Given the description of an element on the screen output the (x, y) to click on. 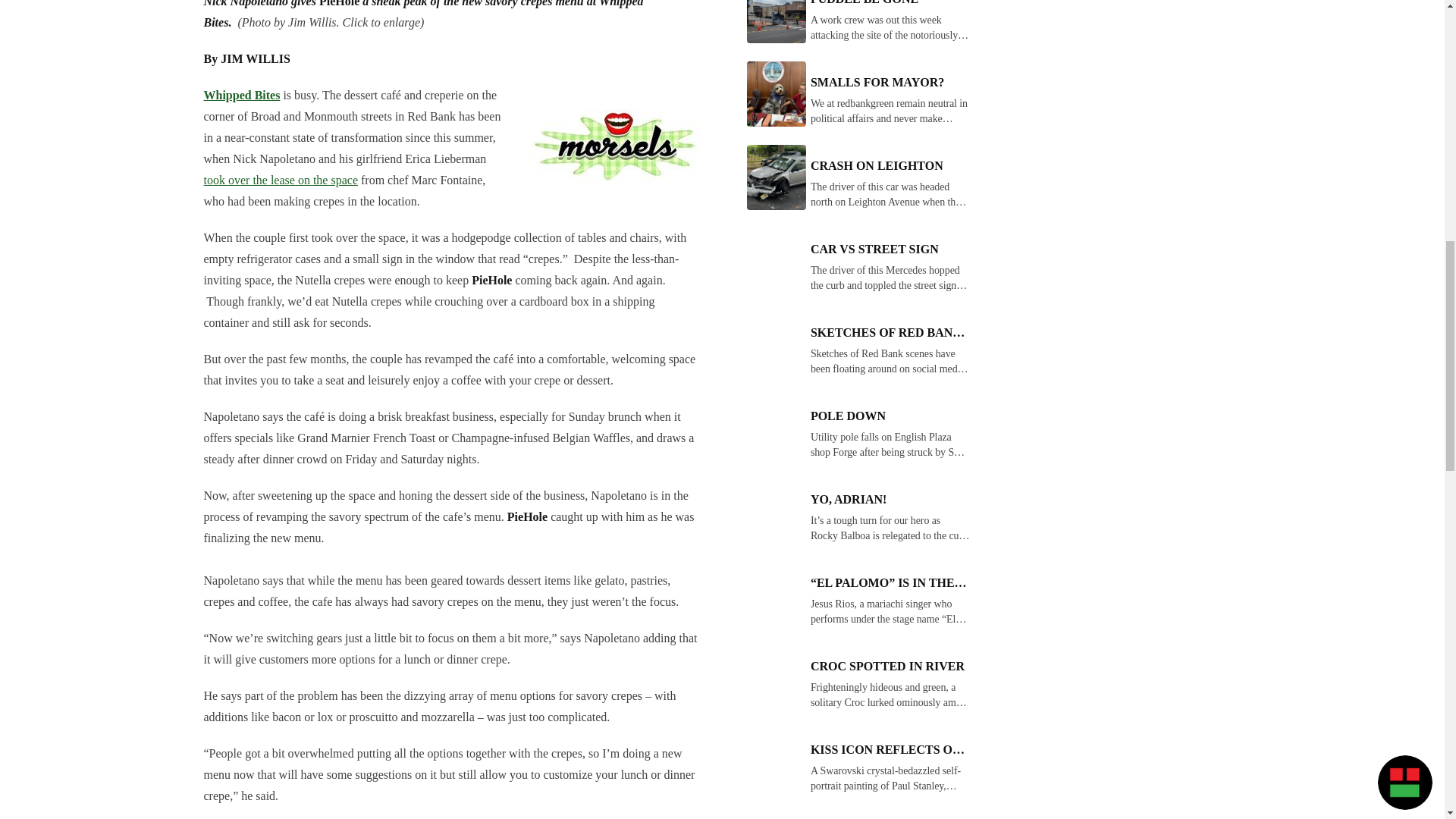
took over the lease on the space (279, 179)
Whipped Bites (241, 94)
